Given the description of an element on the screen output the (x, y) to click on. 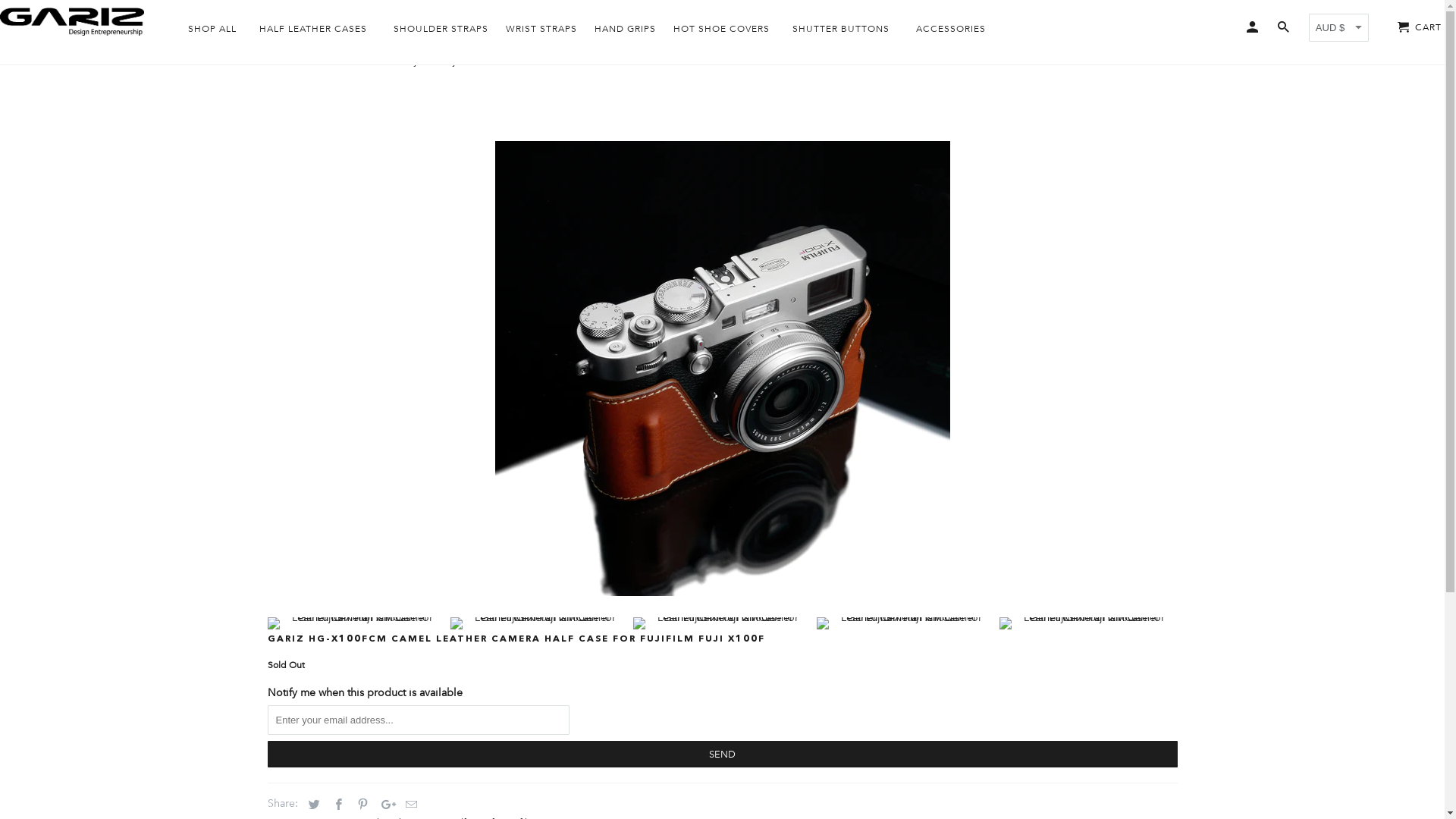
Gariz Element type: hover (72, 21)
Home Element type: text (25, 60)
ACCESSORIES Element type: text (950, 31)
SHOULDER STRAPS Element type: text (440, 31)
Share this on Twitter Element type: hover (310, 803)
SHOP ALL Element type: text (212, 31)
Search Element type: hover (1284, 30)
WRIST STRAPS Element type: text (541, 31)
Products Element type: text (83, 60)
Share this on Facebook Element type: hover (335, 803)
HAND GRIPS Element type: text (624, 31)
Email this to a friend Element type: hover (408, 803)
Share this on Google+ Element type: hover (384, 803)
CART  Element type: text (1415, 27)
My Account  Element type: hover (1253, 30)
Share this on Pinterest Element type: hover (359, 803)
HOT SHOE COVERS Element type: text (721, 31)
Send Element type: text (721, 753)
